Given the description of an element on the screen output the (x, y) to click on. 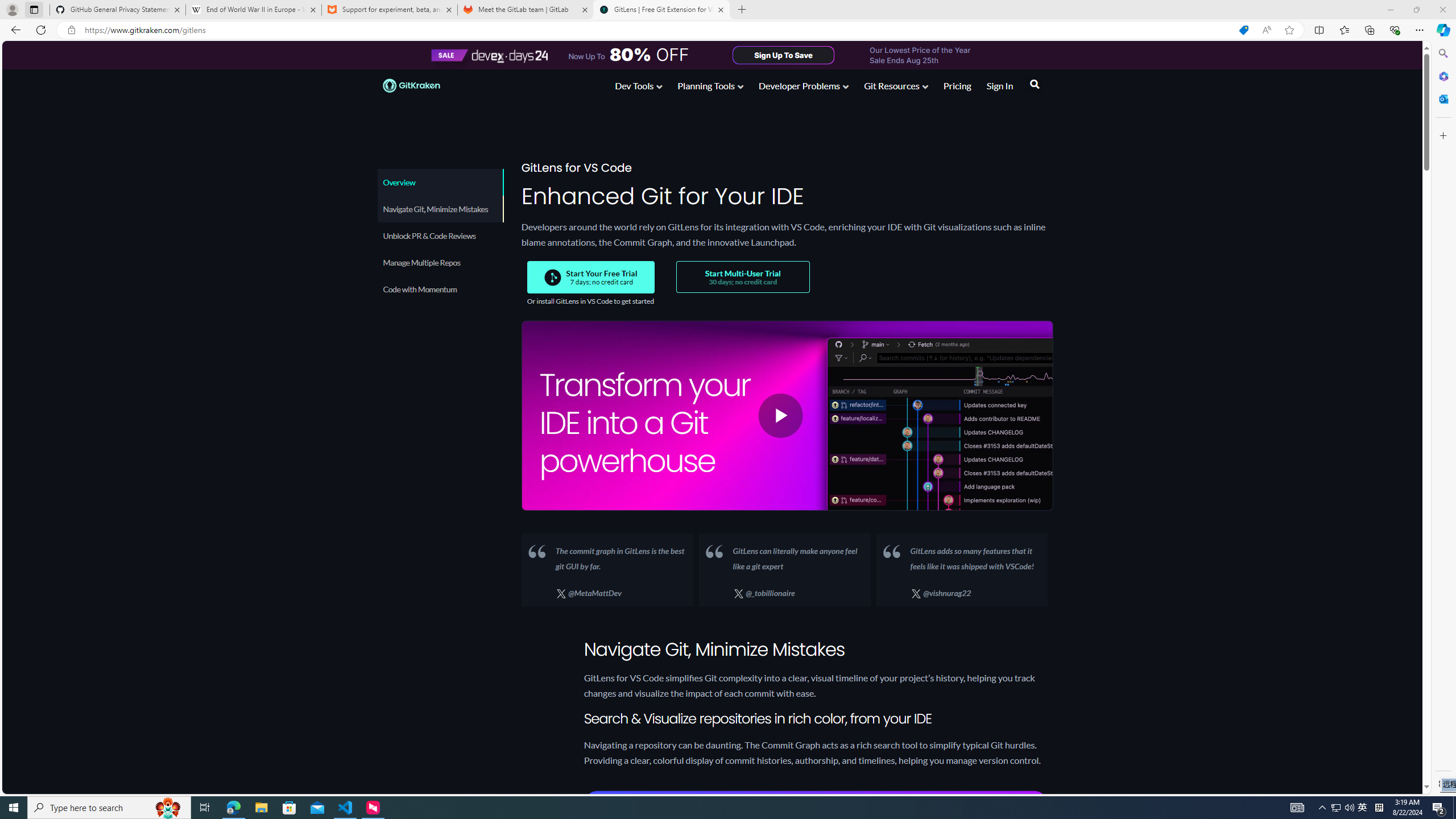
Type here to search (108, 807)
File Explorer (261, 807)
Notification Chevron (1322, 807)
Shopping in Microsoft Edge (1243, 29)
Meet the GitLab team | GitLab (525, 9)
Tray Input Indicator - Chinese (Simplified, China) (1378, 807)
